Given the description of an element on the screen output the (x, y) to click on. 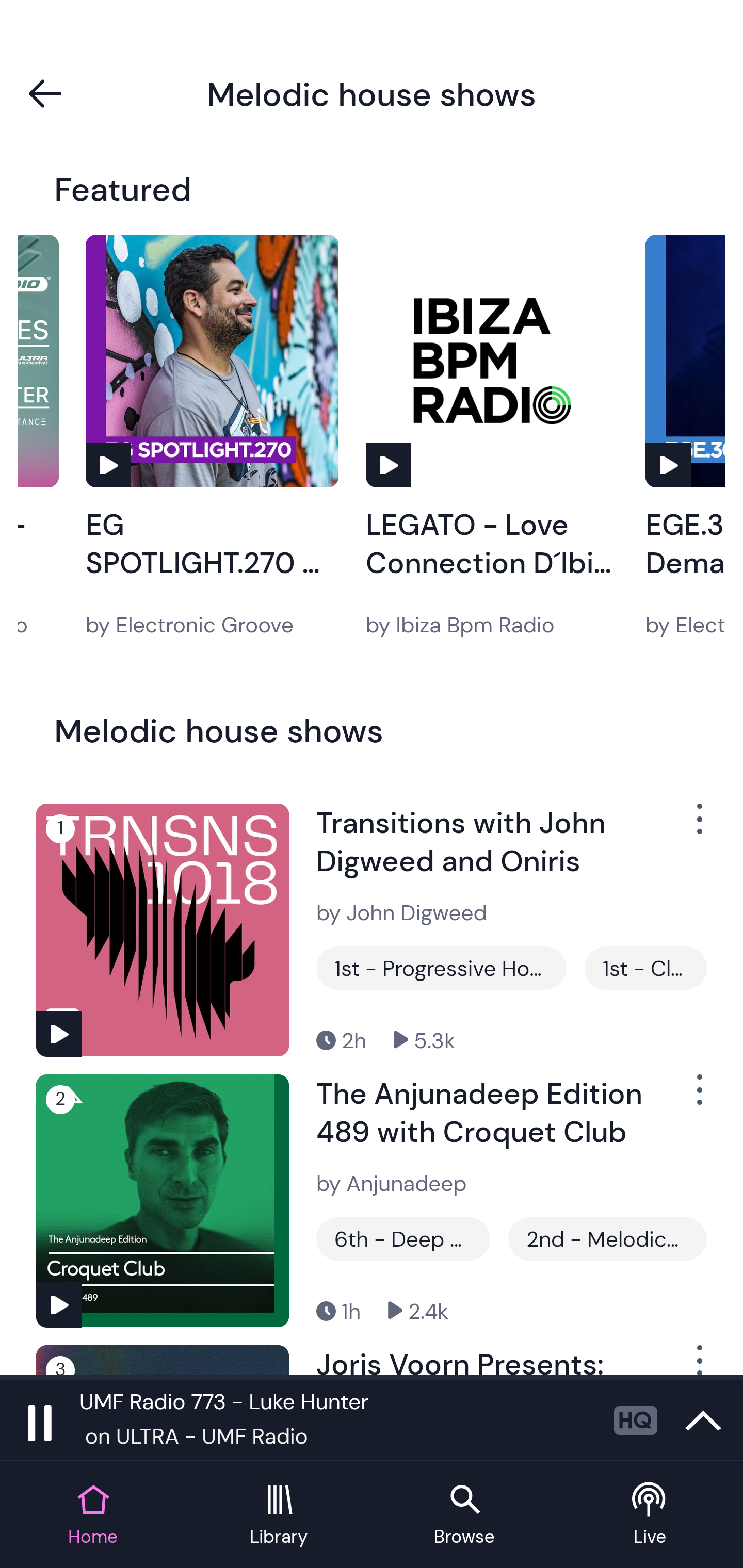
Show Options Menu Button (697, 825)
1st - Progressive House (441, 968)
1st - Club (645, 968)
Show Options Menu Button (697, 1097)
6th - Deep House (403, 1238)
2nd - Melodic House (607, 1238)
Show Options Menu Button (697, 1360)
Home tab Home (92, 1515)
Library tab Library (278, 1515)
Browse tab Browse (464, 1515)
Live tab Live (650, 1515)
